Given the description of an element on the screen output the (x, y) to click on. 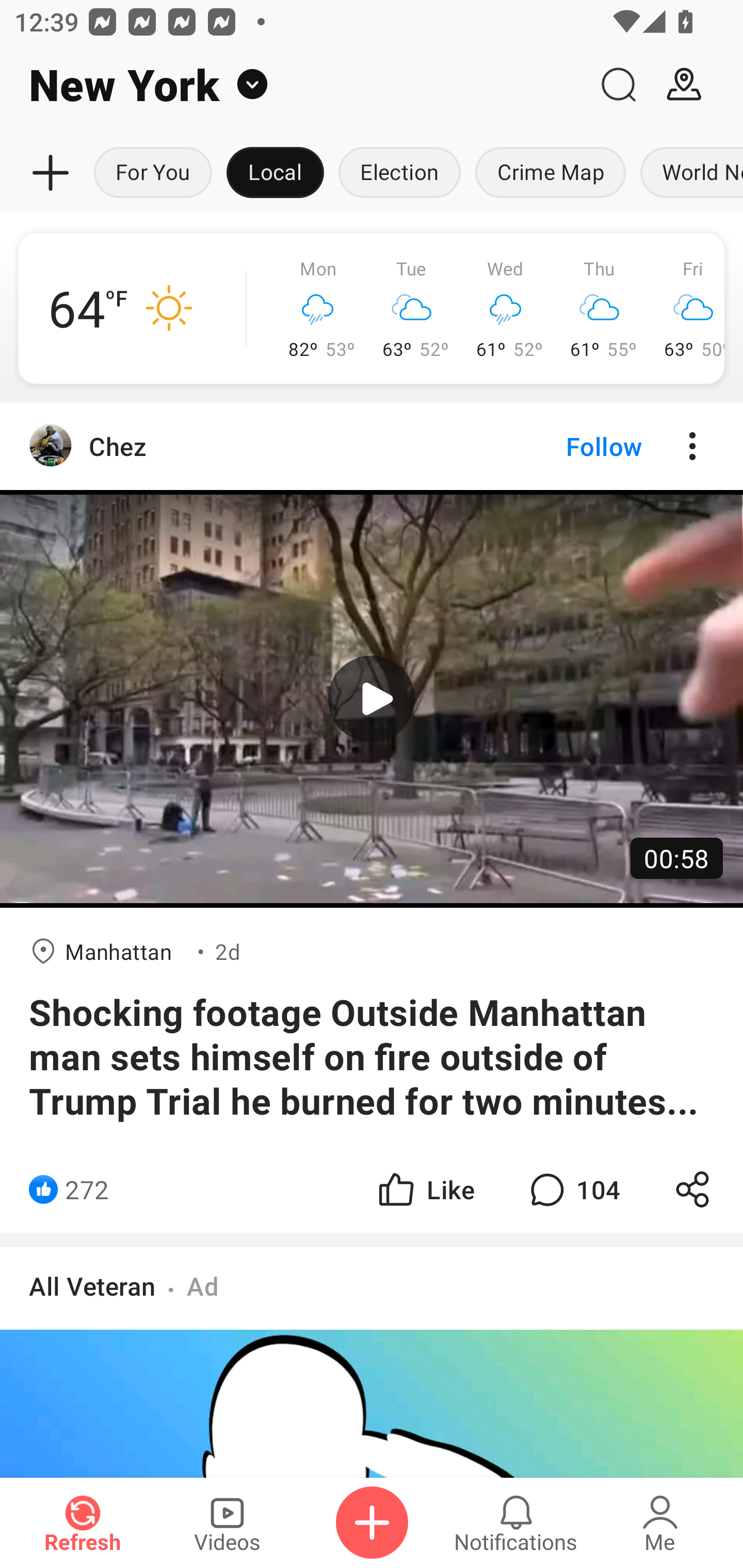
New York (292, 84)
For You (152, 172)
Local (275, 172)
Election (399, 172)
Crime Map (550, 172)
World News (688, 172)
Mon 82º 53º (317, 307)
Tue 63º 52º (411, 307)
Wed 61º 52º (505, 307)
Thu 61º 55º (599, 307)
Fri 63º 50º (685, 307)
Chez Follow (371, 445)
Follow (569, 445)
272 (87, 1189)
Like (425, 1189)
104 (572, 1189)
All Veteran (92, 1285)
Videos (227, 1522)
Notifications (516, 1522)
Me (659, 1522)
